Given the description of an element on the screen output the (x, y) to click on. 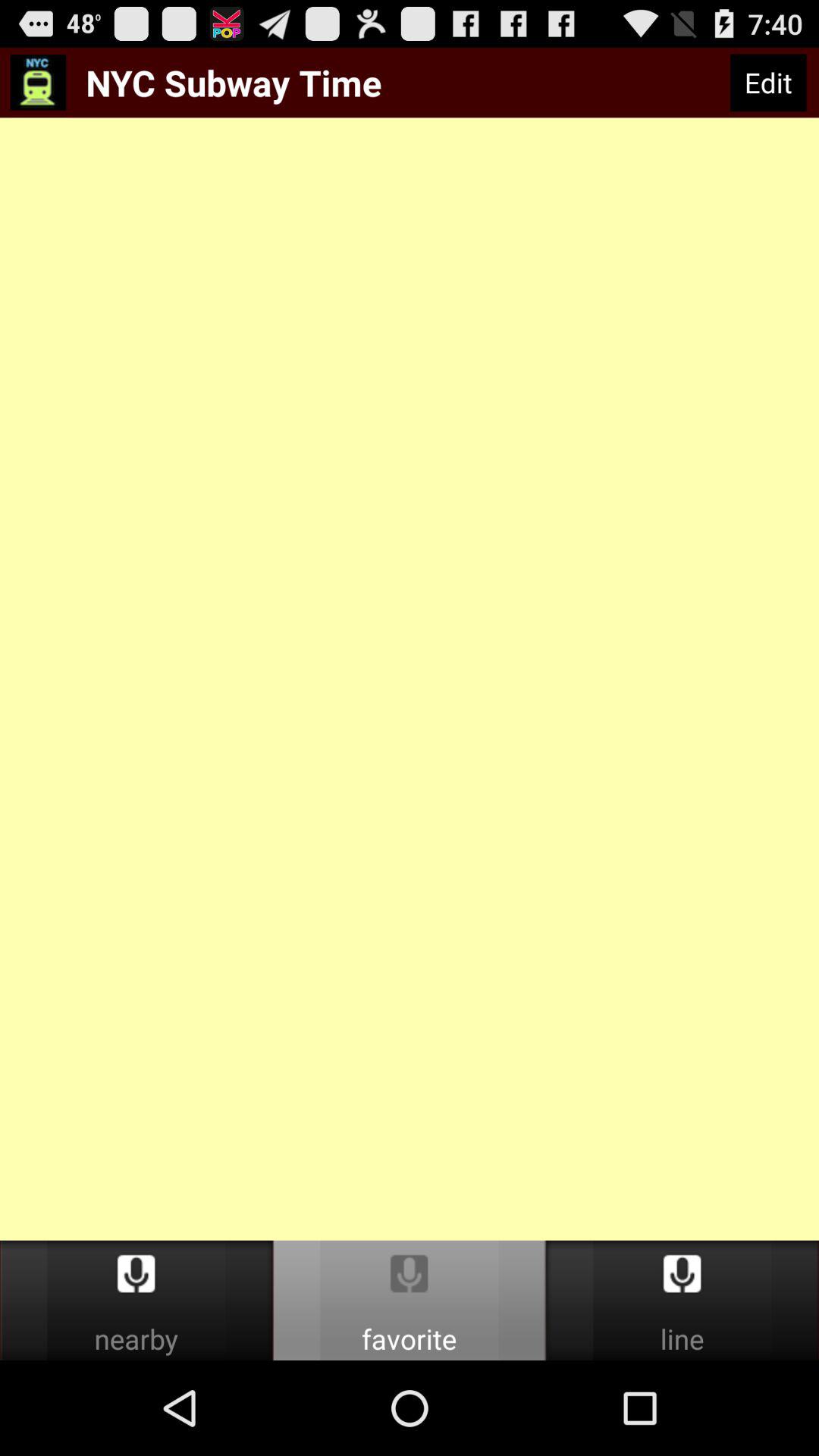
press the icon to the right of nyc subway time icon (768, 82)
